Given the description of an element on the screen output the (x, y) to click on. 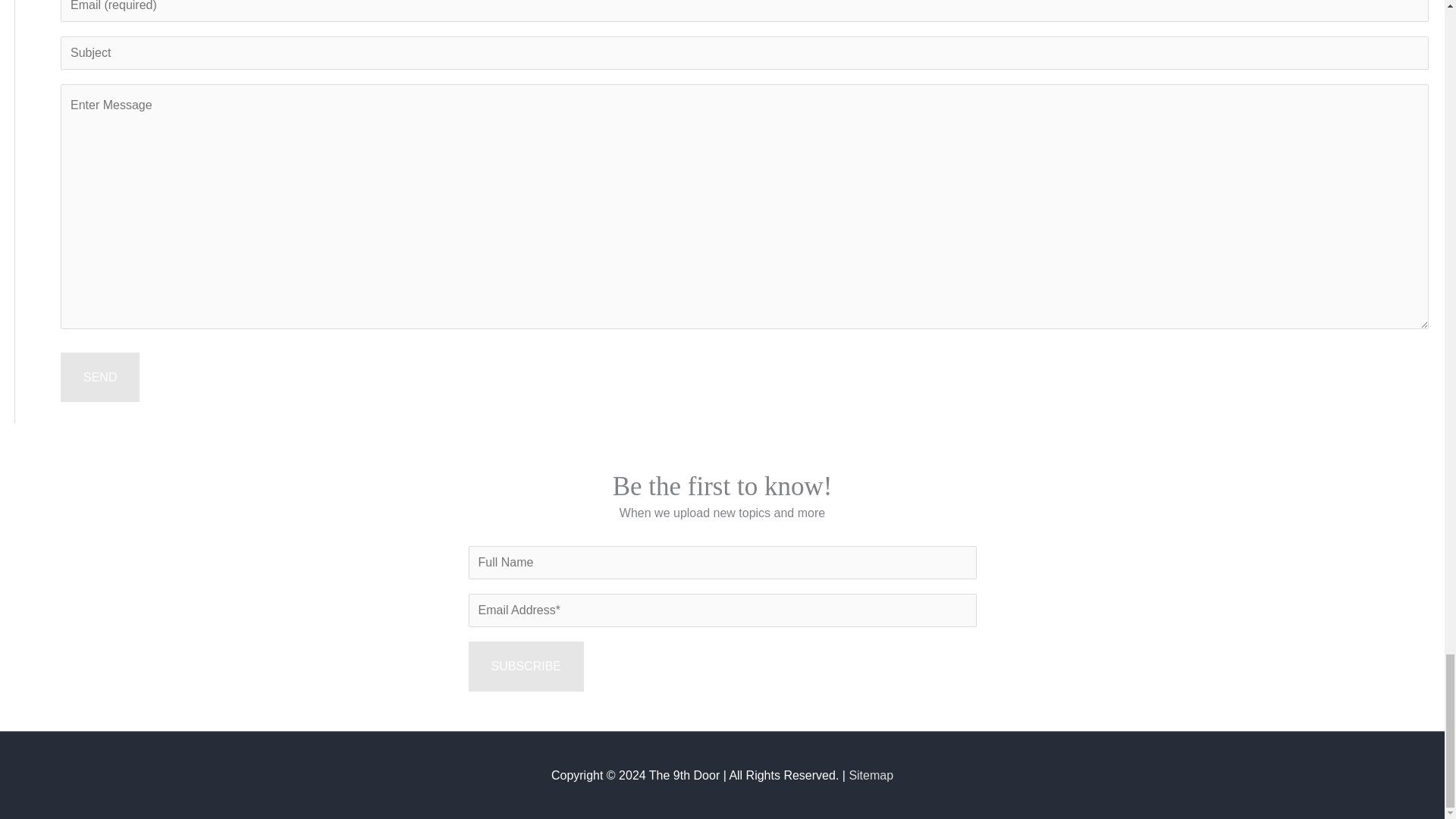
Sitemap (870, 775)
SUBSCRIBE (525, 666)
SEND (100, 377)
SEND (100, 377)
SUBSCRIBE (525, 666)
